Given the description of an element on the screen output the (x, y) to click on. 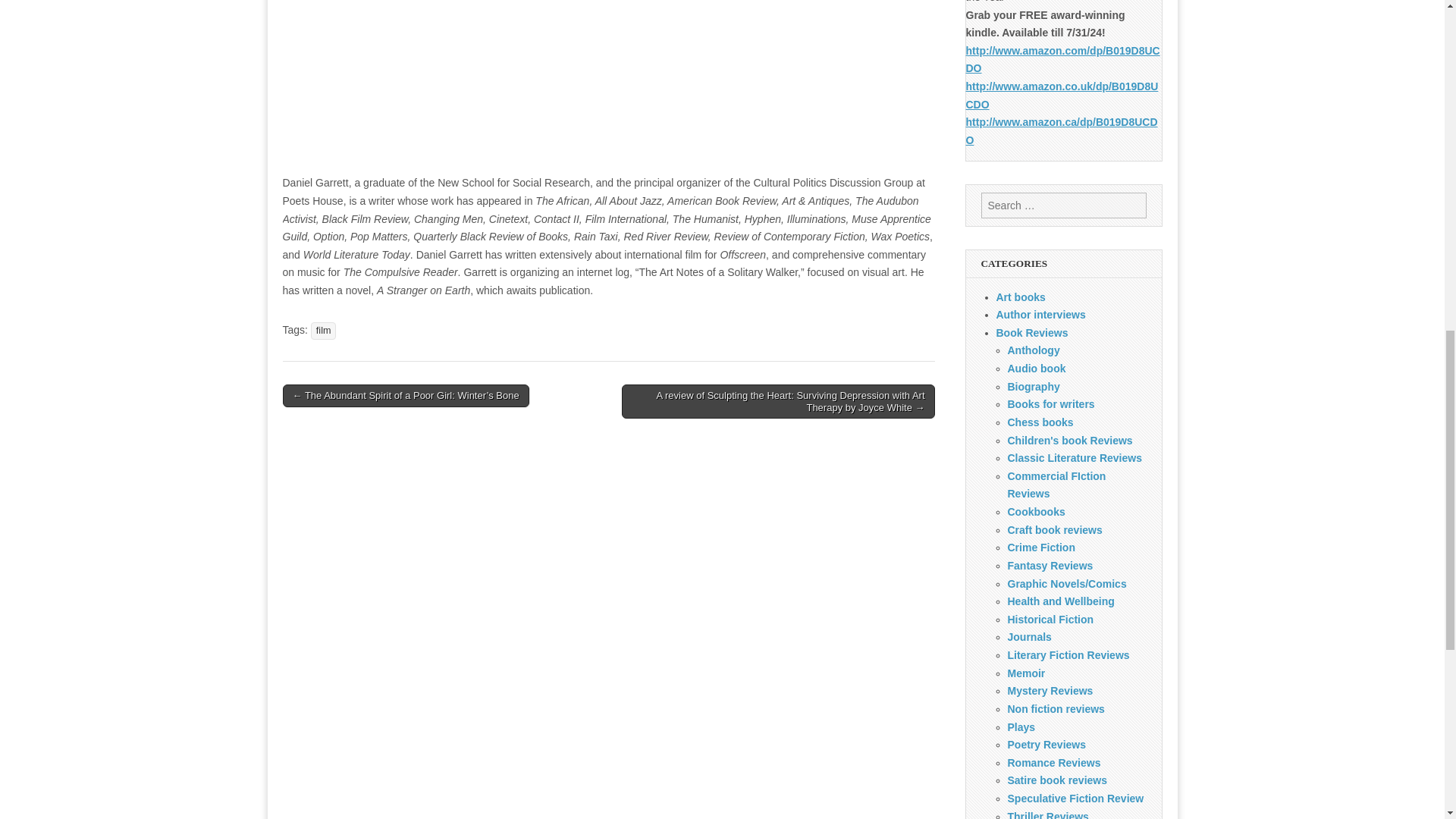
Biography (1033, 386)
Commercial FIction Reviews (1056, 485)
Book Reviews (1031, 332)
Crime Fiction (1040, 547)
Books for writers (1050, 404)
Anthology (1033, 349)
film (323, 330)
Cookbooks (1035, 511)
Health and Wellbeing (1060, 601)
Journals (1029, 636)
Classic Literature Reviews (1074, 458)
Craft book reviews (1054, 530)
Chess books (1040, 422)
Author interviews (1040, 314)
Fantasy Reviews (1050, 565)
